Given the description of an element on the screen output the (x, y) to click on. 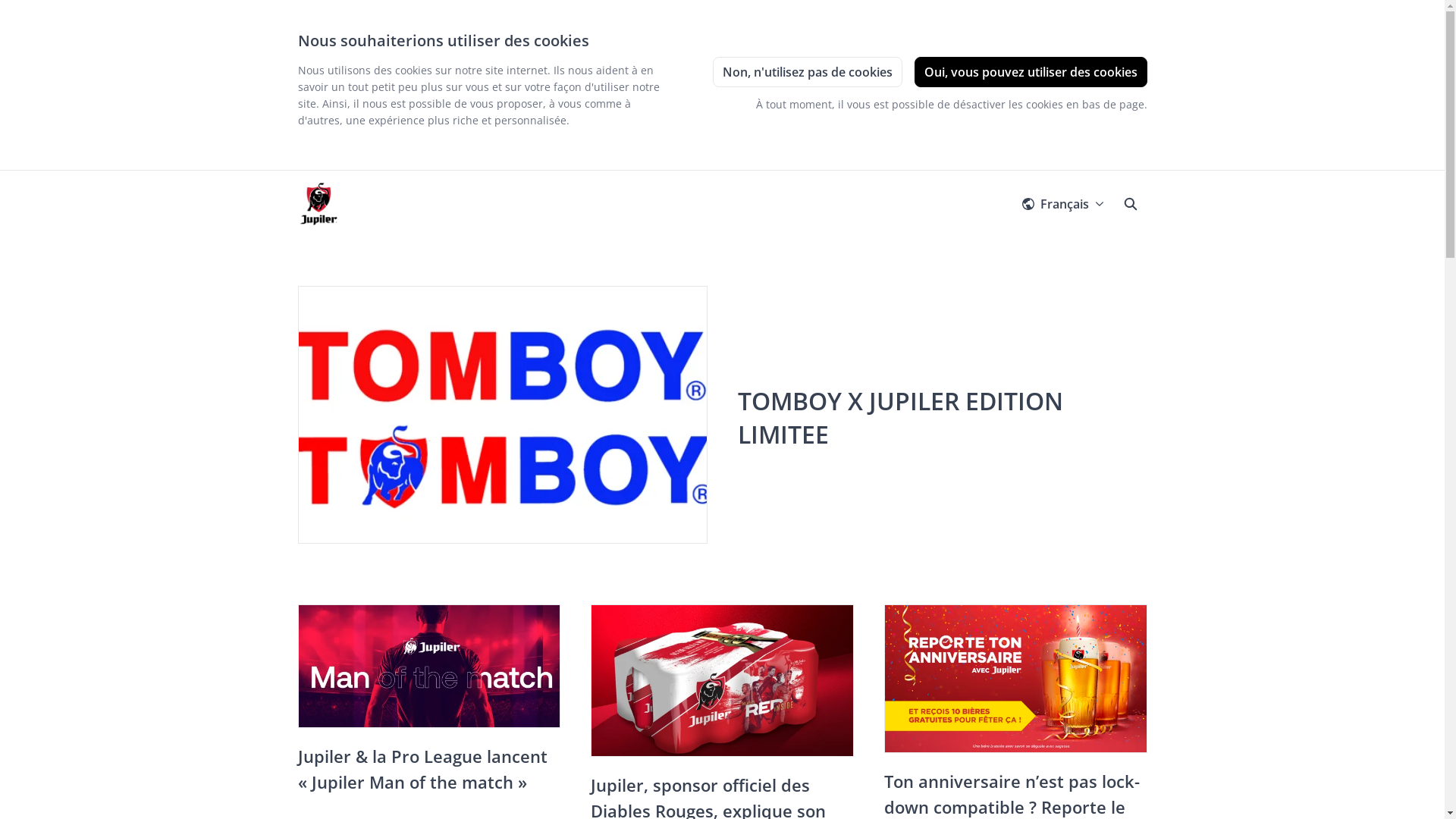
Recherche Element type: hover (1129, 203)
Oui, vous pouvez utiliser des cookies Element type: text (1030, 71)
JUPILER Element type: text (317, 203)
Non, n'utilisez pas de cookies Element type: text (807, 71)
TOMBOY X JUPILER EDITION LIMITEE Element type: text (899, 417)
